Given the description of an element on the screen output the (x, y) to click on. 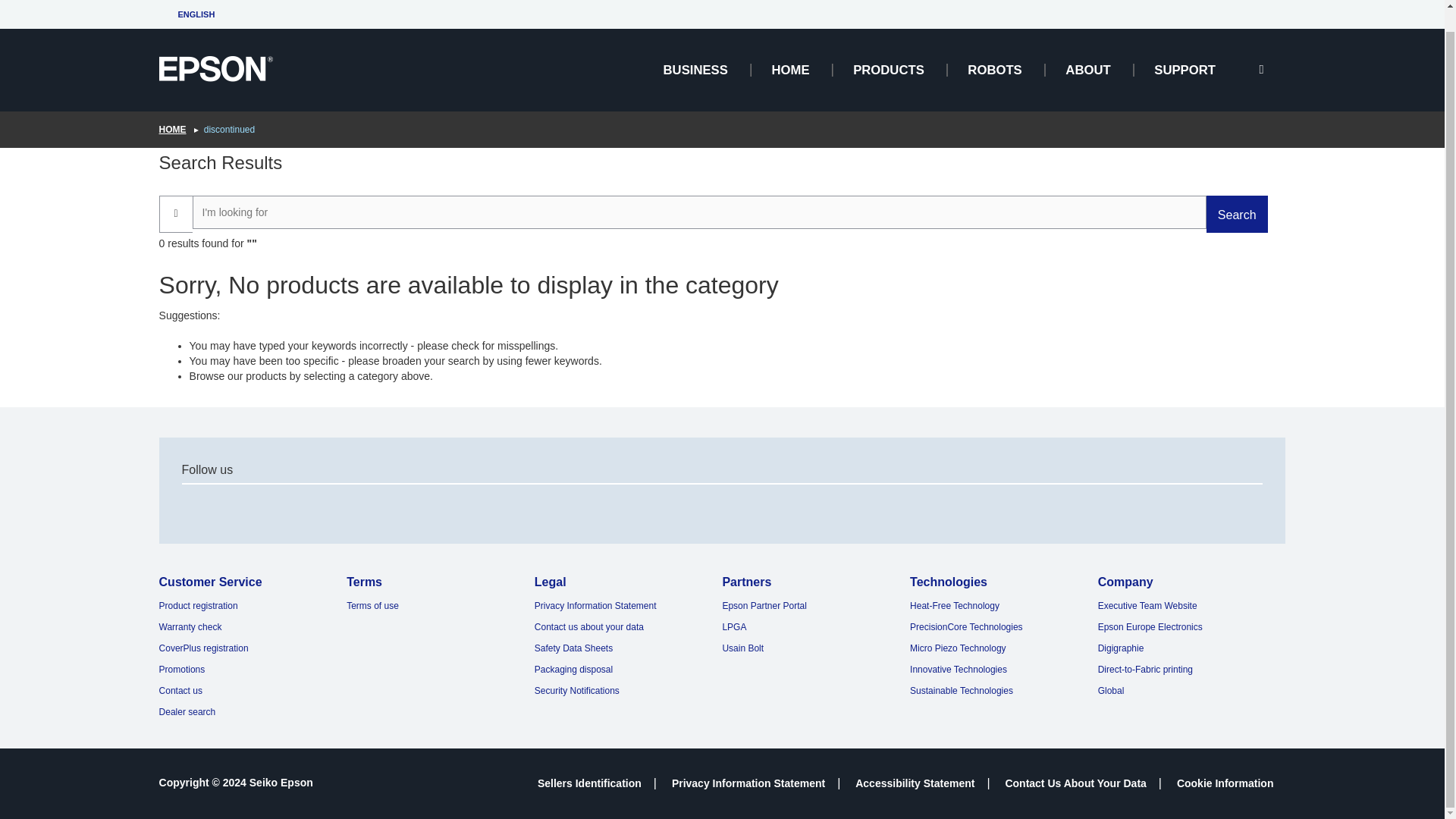
BUSINESS (695, 48)
Business (695, 48)
Epson (215, 47)
